Given the description of an element on the screen output the (x, y) to click on. 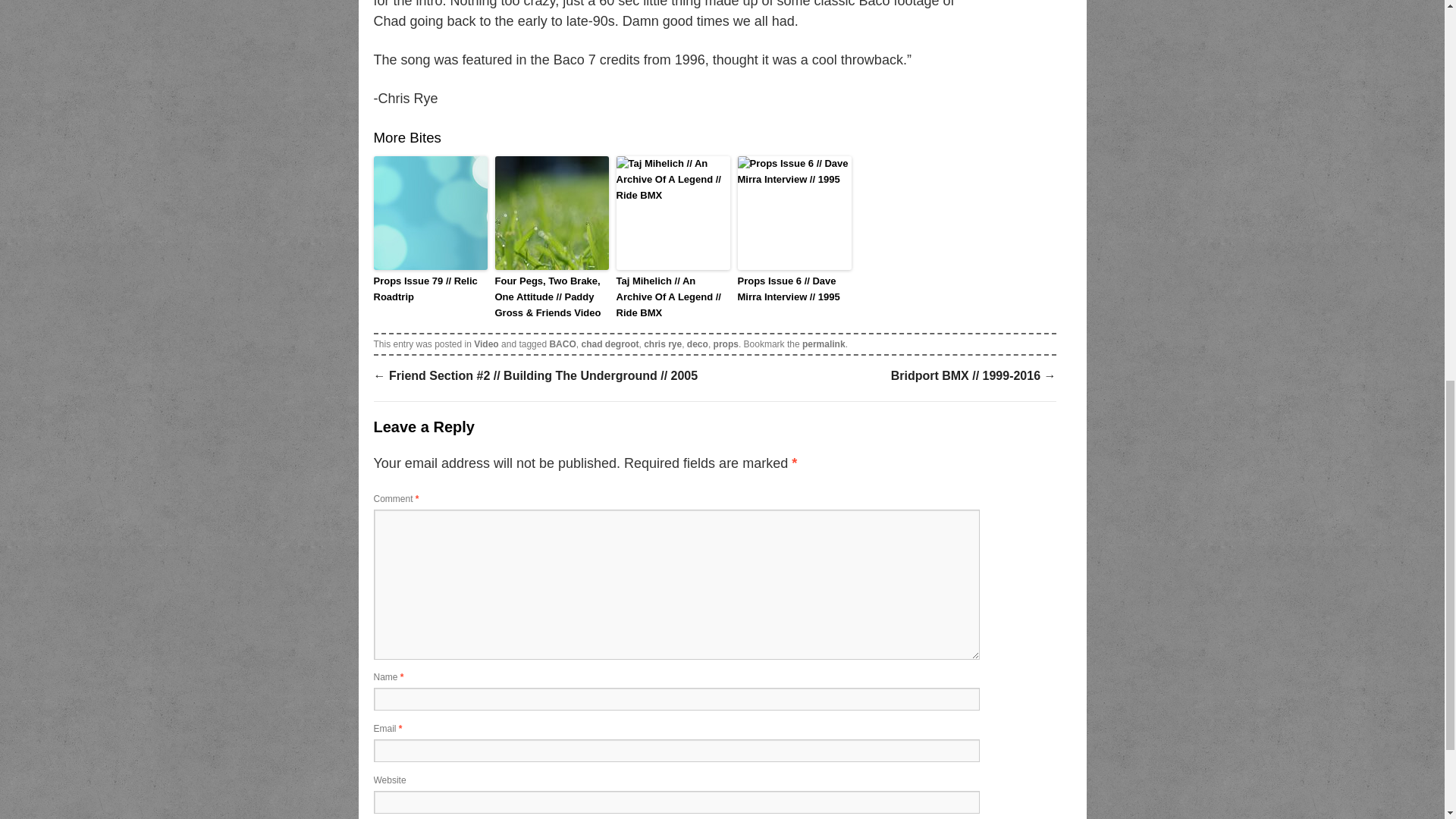
props (725, 344)
deco (697, 344)
BACO (561, 344)
chad degroot (609, 344)
Video (485, 344)
chris rye (662, 344)
permalink (823, 344)
